Given the description of an element on the screen output the (x, y) to click on. 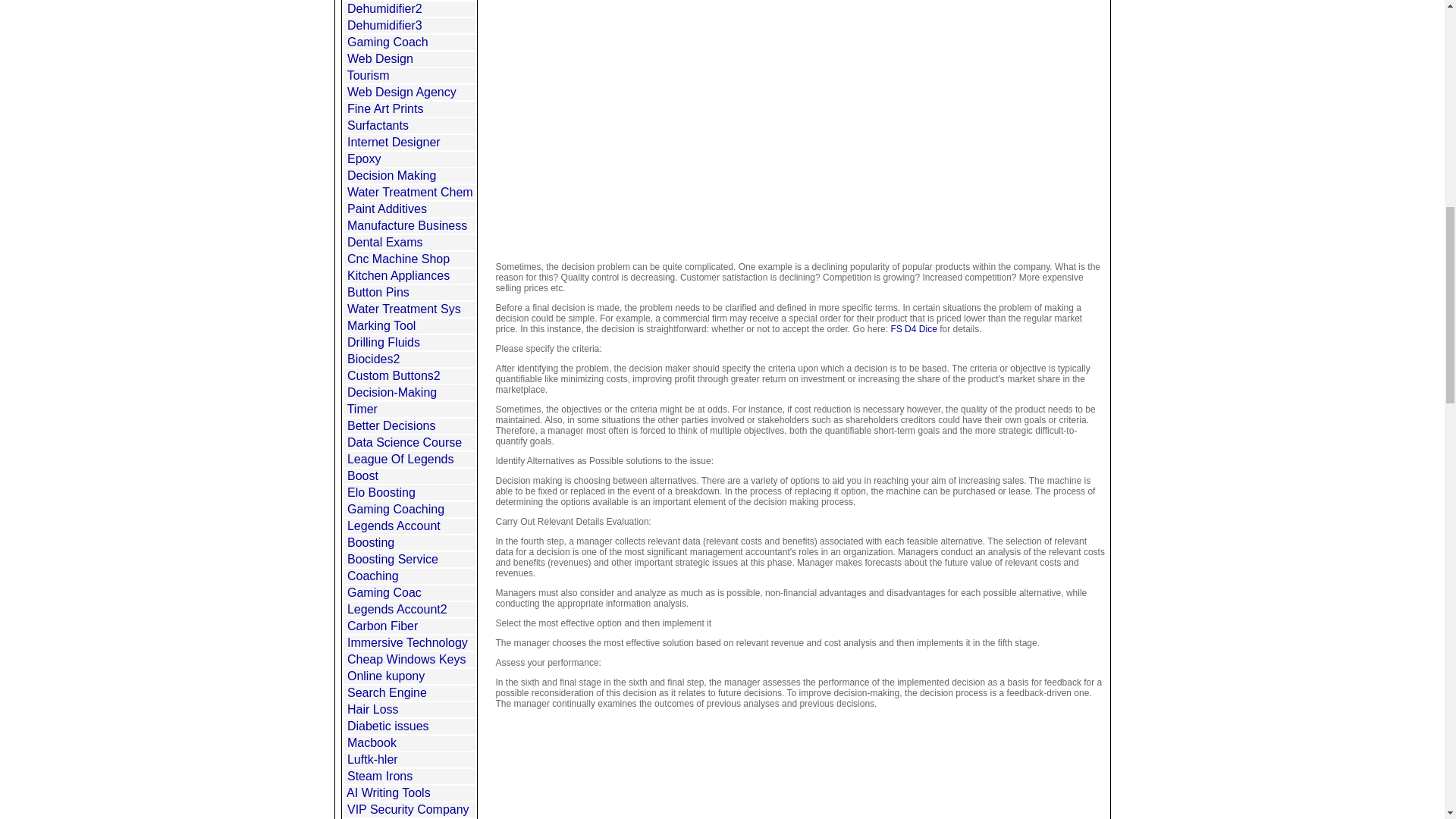
Gaming Coach (387, 42)
Dehumidifier3 (384, 24)
Tourism (368, 74)
Web Design Agency (402, 91)
Web Design (380, 58)
Dehumidifier2 (384, 8)
YouTube video player (800, 106)
